Given the description of an element on the screen output the (x, y) to click on. 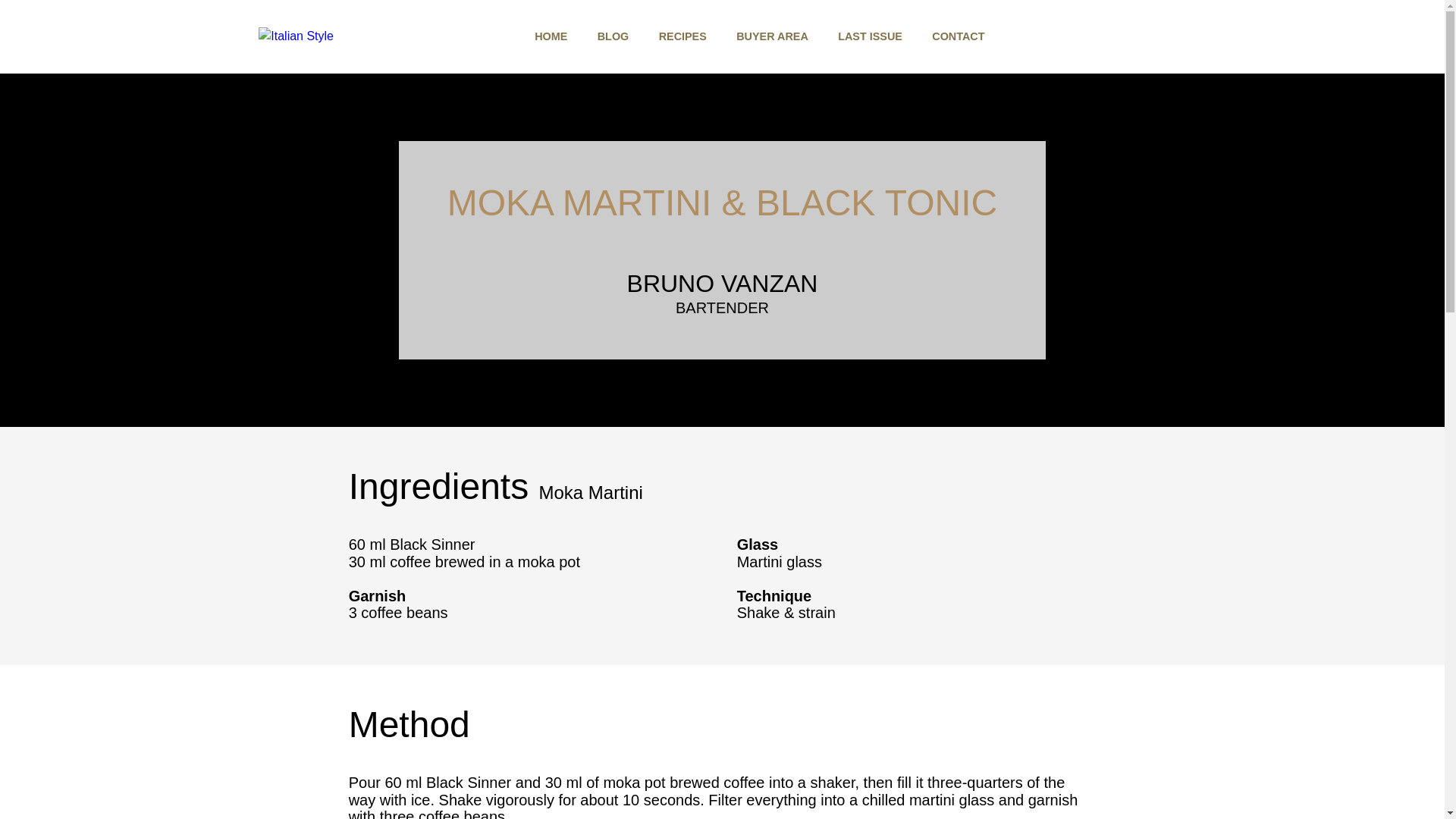
CONTACT (957, 36)
LAST ISSUE (870, 36)
BUYER AREA (772, 36)
RECIPES (682, 36)
